Given the description of an element on the screen output the (x, y) to click on. 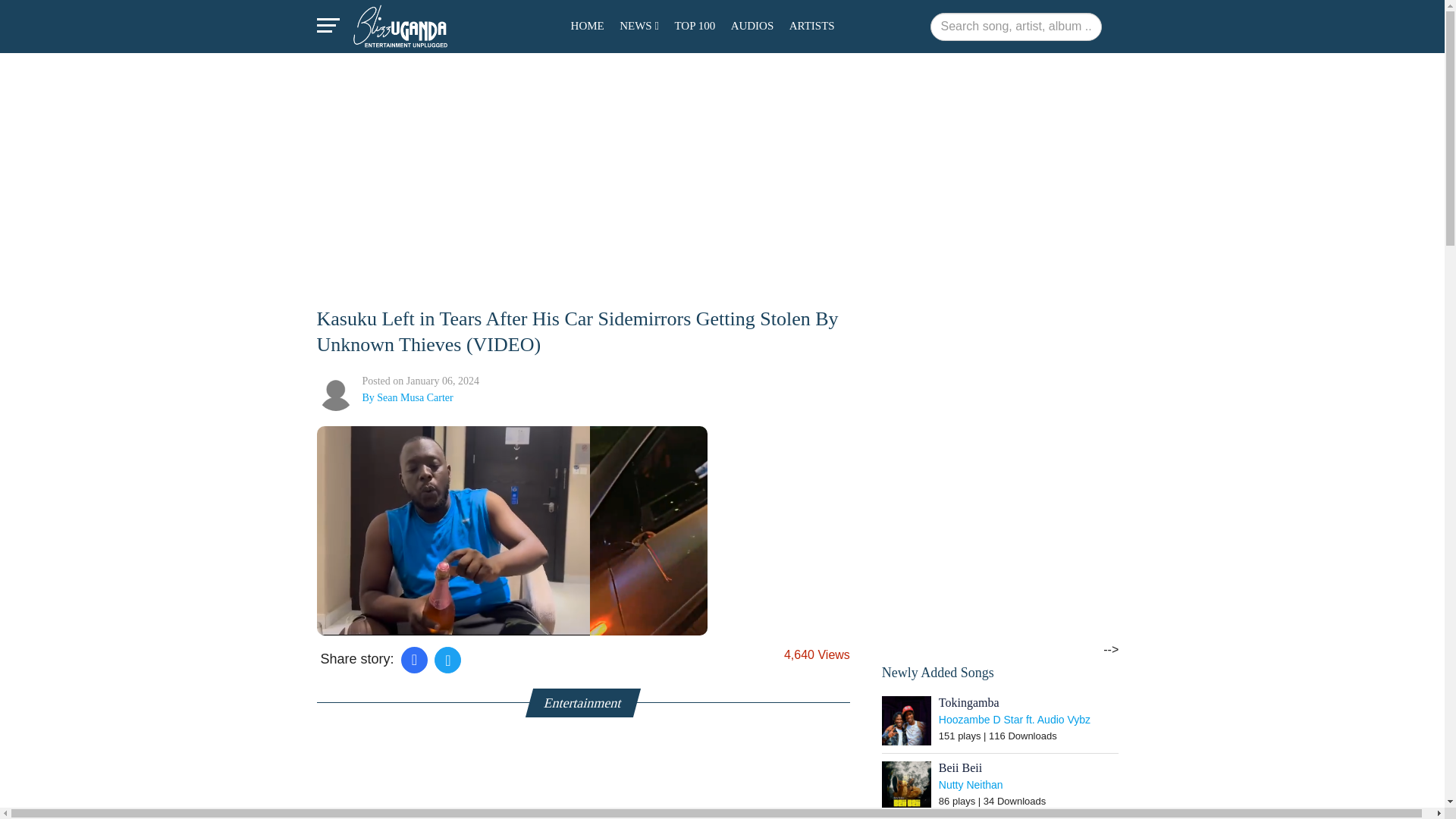
NEWS (638, 24)
Beii Beii (906, 785)
Tokingamba (906, 720)
HOME (587, 24)
